Given the description of an element on the screen output the (x, y) to click on. 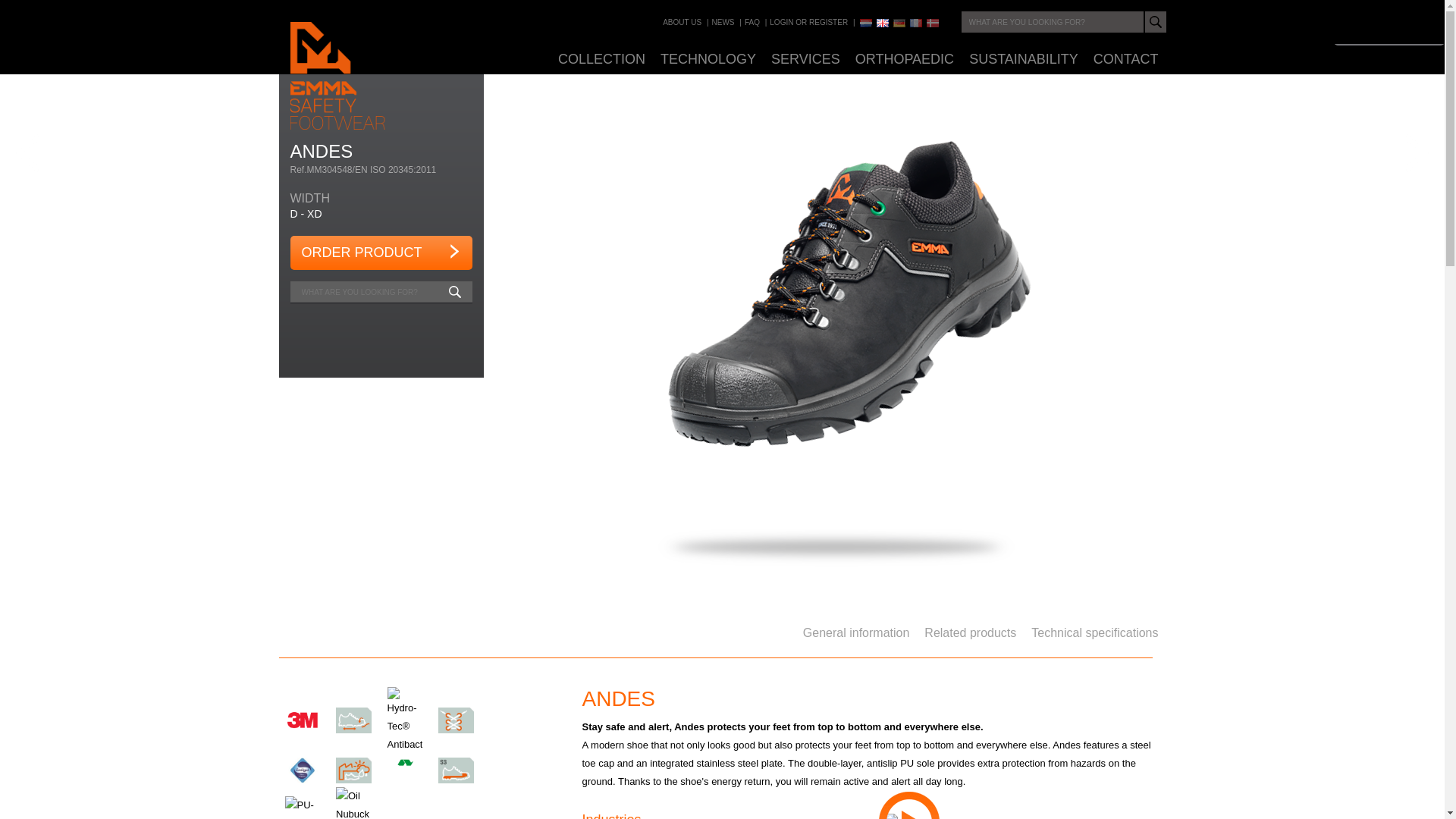
FAQ (751, 22)
FR (915, 22)
Login or register (808, 22)
DK (932, 22)
NL (866, 22)
EN (882, 22)
LOGIN OR REGISTER (808, 22)
about us (681, 22)
Faq (751, 22)
NEWS (723, 22)
